Given the description of an element on the screen output the (x, y) to click on. 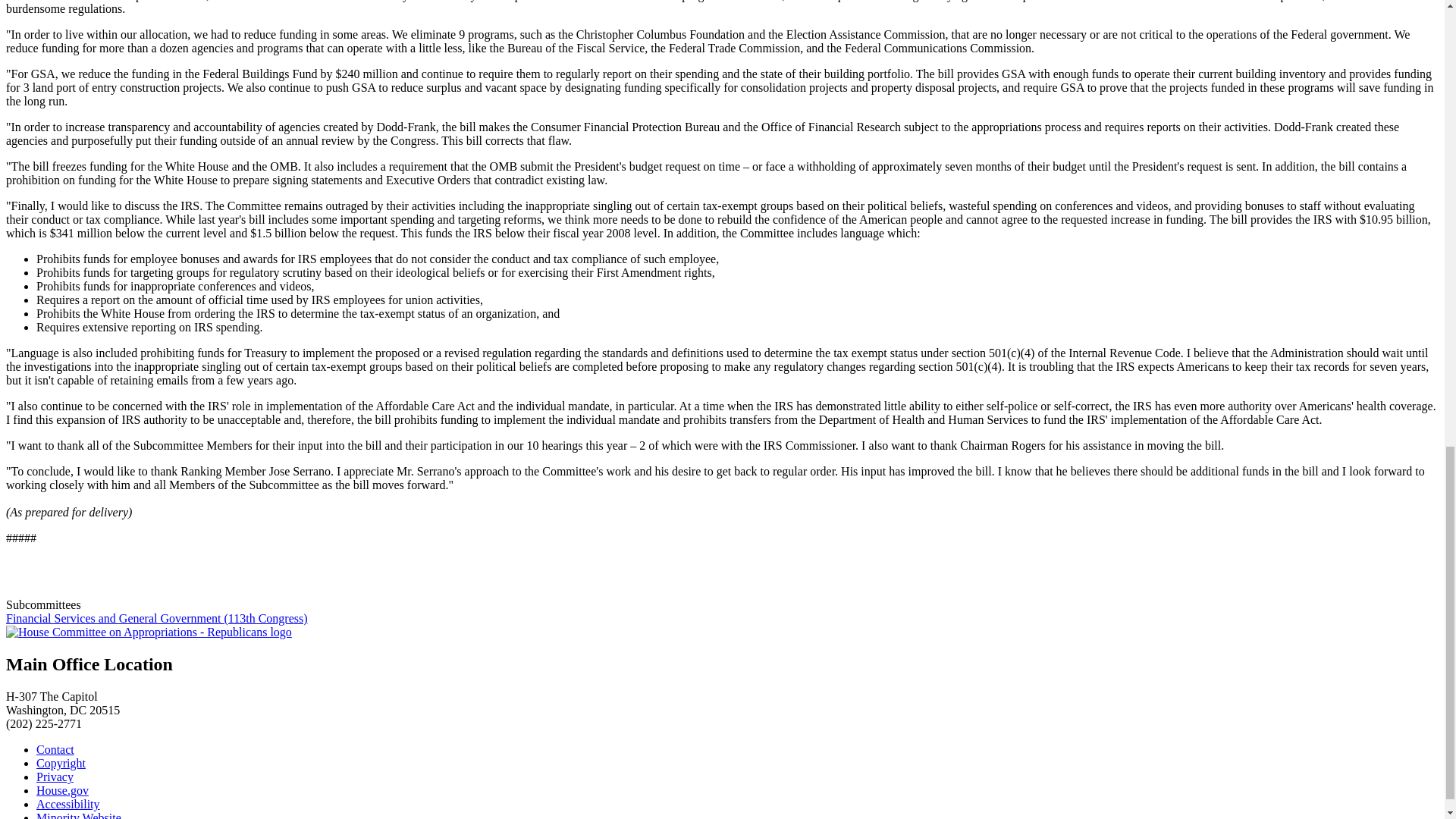
Visit the House of Representatives website.  (62, 789)
Learn about the Copyright of this website.  (60, 762)
